Given the description of an element on the screen output the (x, y) to click on. 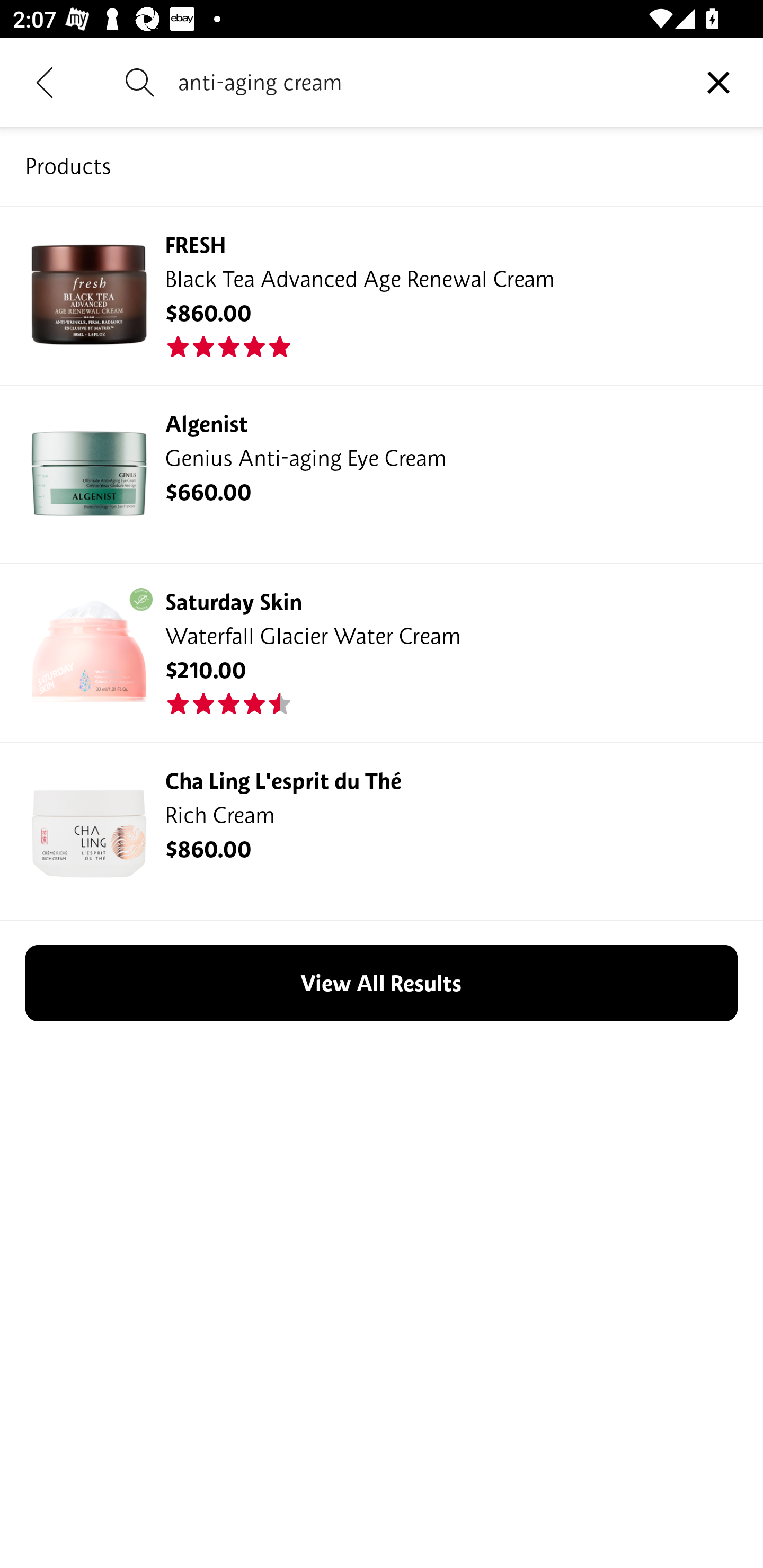
Navigate up (44, 82)
Clear query (718, 81)
anti-aging cream (425, 82)
View All Results (381, 982)
